Given the description of an element on the screen output the (x, y) to click on. 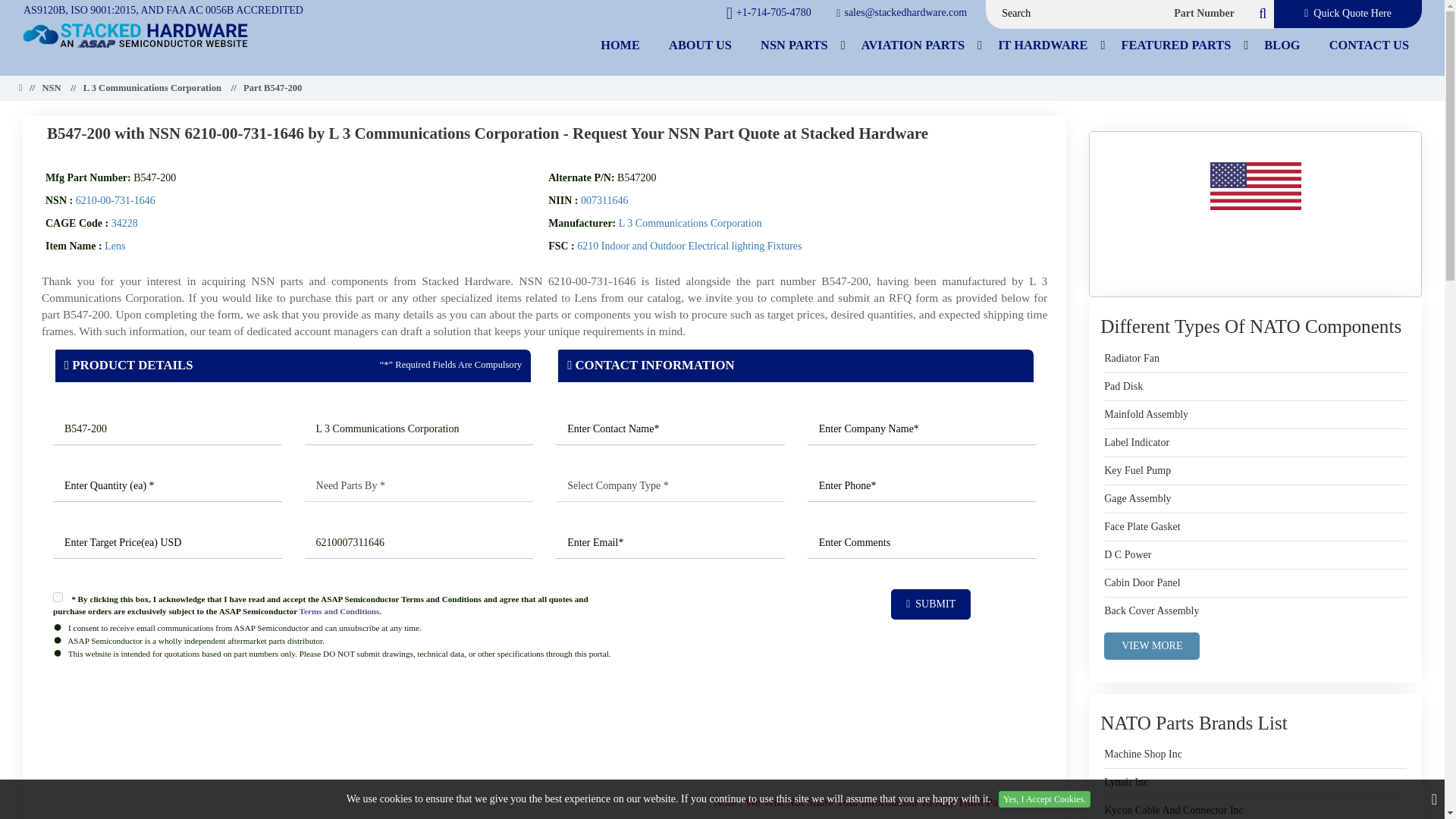
L 3 Communications Corporation (419, 429)
B547-200 (167, 429)
Machine Shop Inc (1142, 754)
CONTACT US (1369, 44)
NSN PARTS (794, 44)
AVIATION PARTS (912, 44)
6210007311646 (419, 543)
ABOUT US (700, 44)
FEATURED PARTS (1176, 44)
RFQ disclaimer (543, 725)
  Quick Quote Here (1348, 13)
BLOG (1281, 44)
on (57, 596)
IT HARDWARE (1042, 44)
HOME (620, 44)
